Given the description of an element on the screen output the (x, y) to click on. 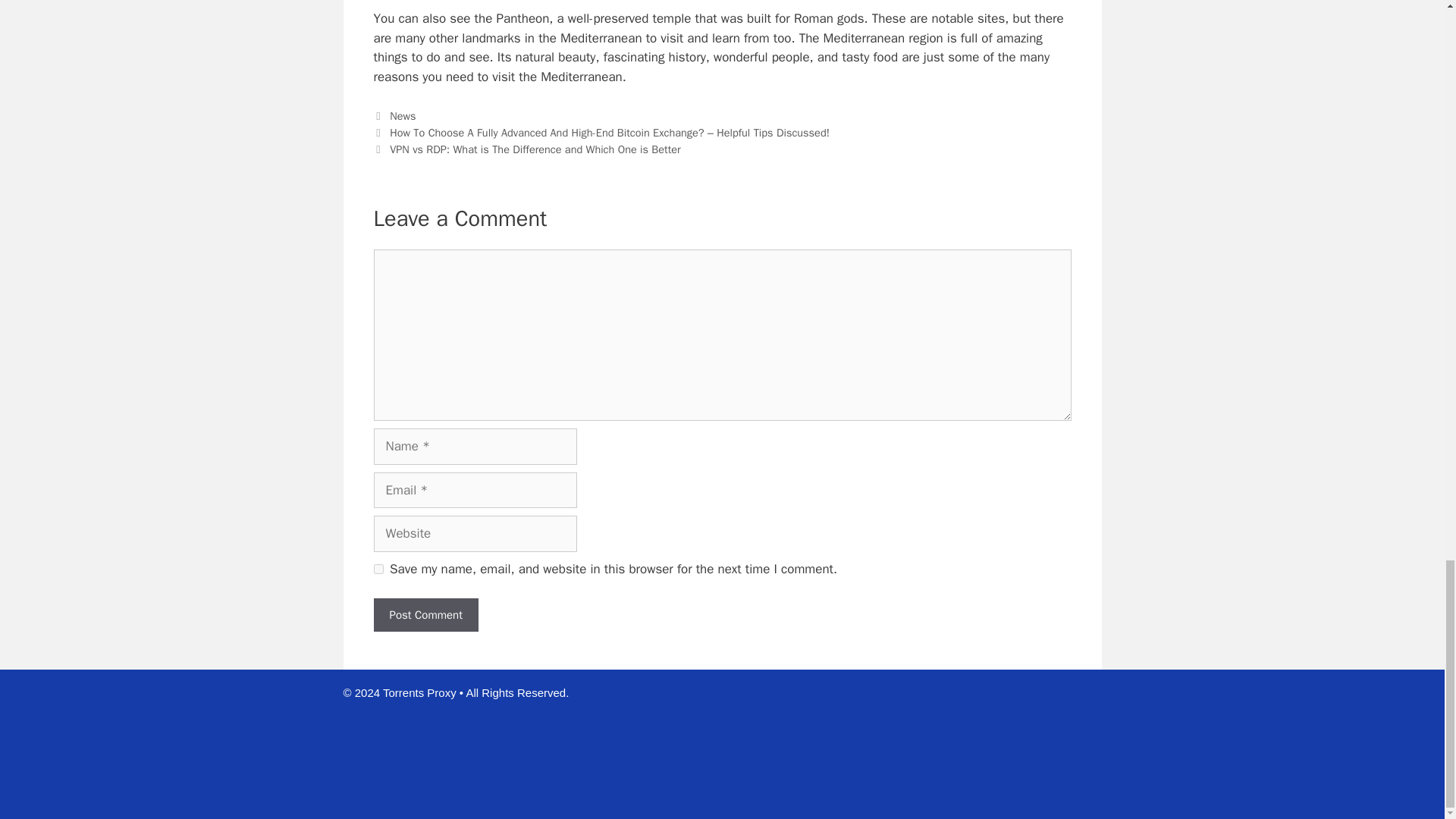
Post Comment (424, 615)
DMCA.com Protection Status (986, 793)
Post Comment (424, 615)
News (402, 115)
yes (377, 569)
VPN vs RDP: What is The Difference and Which One is Better (535, 149)
